Given the description of an element on the screen output the (x, y) to click on. 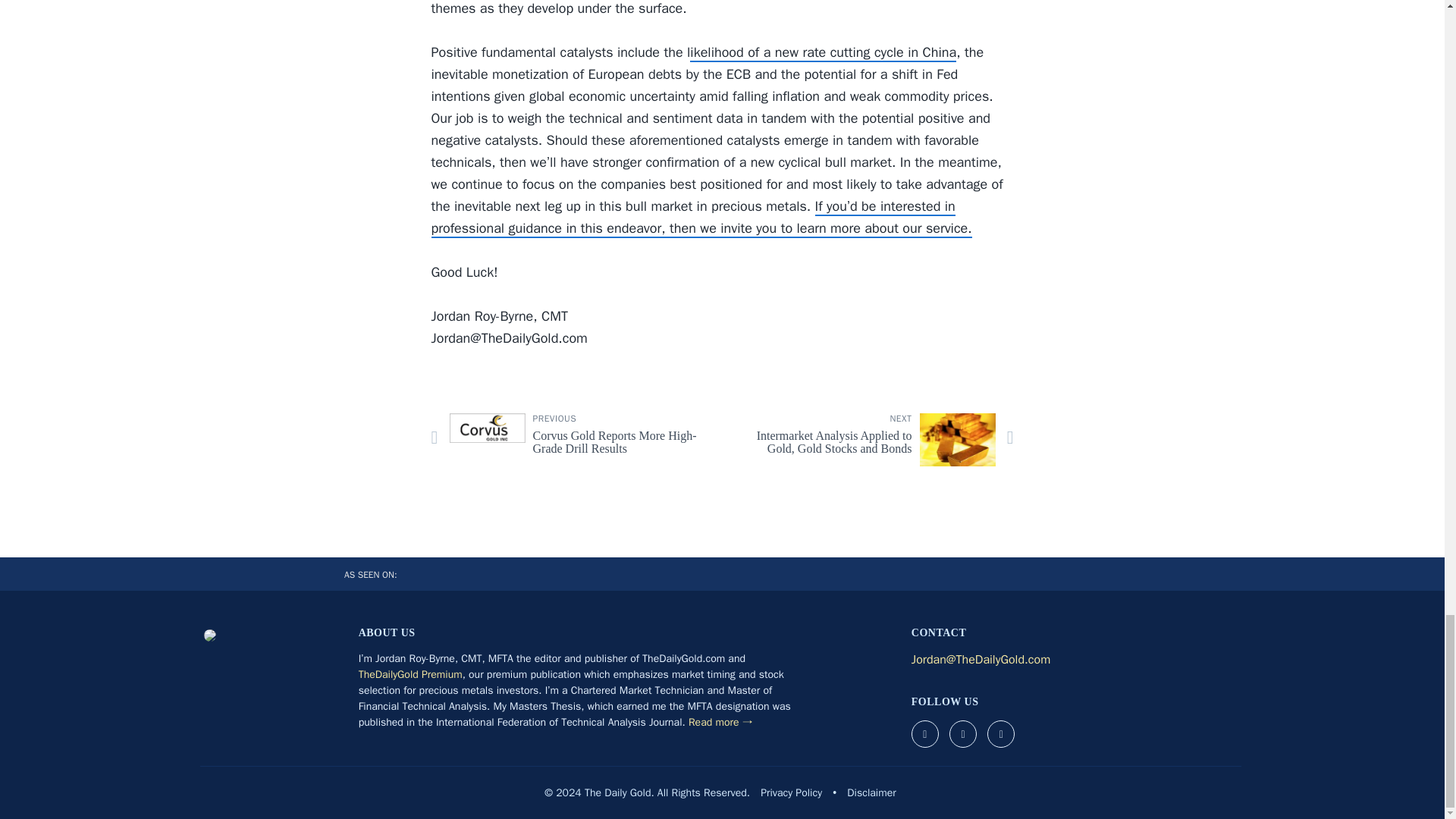
Disclaimer (871, 792)
TheDailyGold Premium (410, 674)
Privacy Policy (570, 439)
ikelihood of a new rate cutting cycle in China (791, 792)
